Given the description of an element on the screen output the (x, y) to click on. 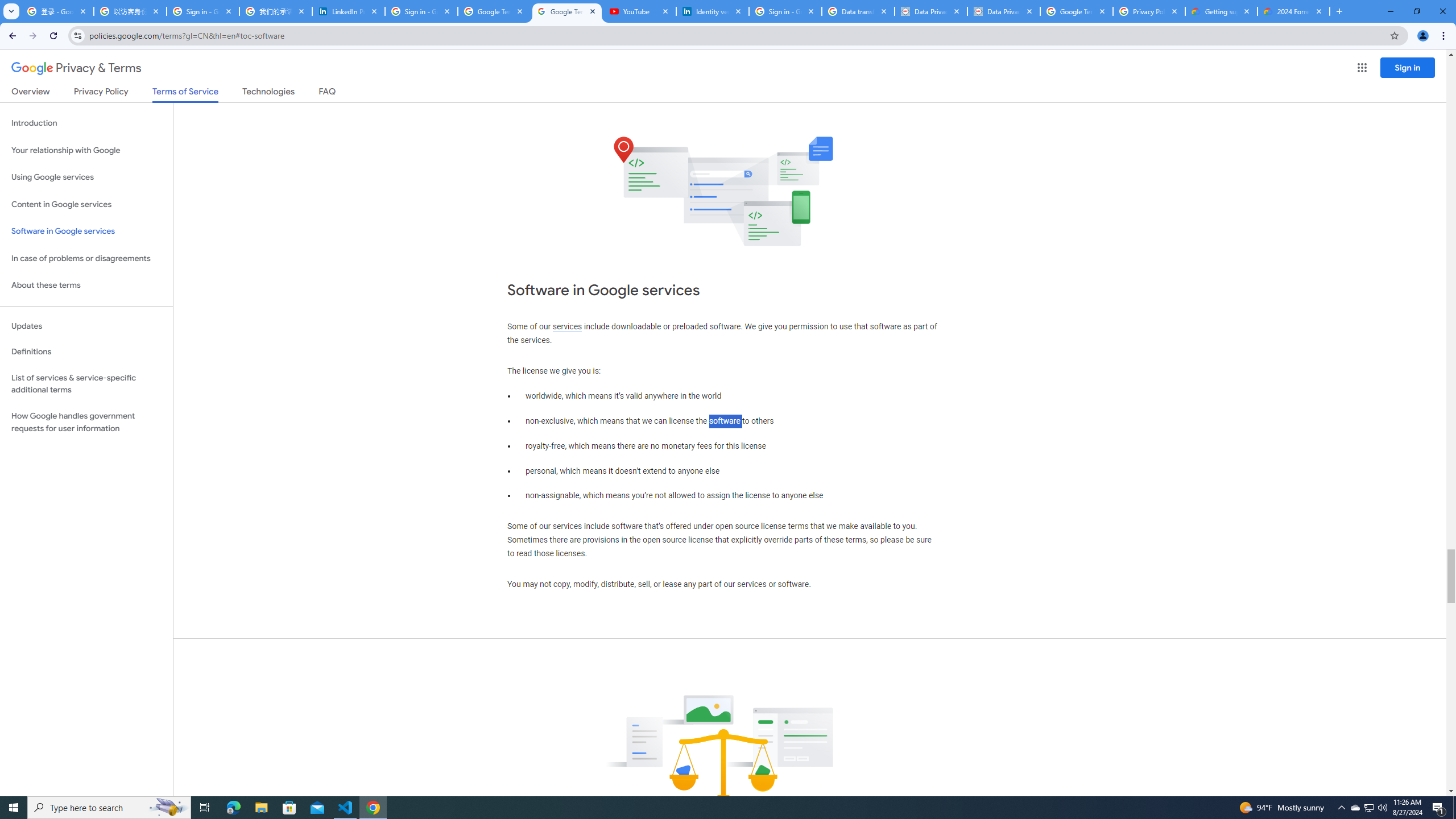
Sign in - Google Accounts (421, 11)
Technologies (268, 93)
Software in Google services (86, 230)
Sign in - Google Accounts (785, 11)
Privacy & Terms (76, 68)
Sign in (1407, 67)
Introduction (86, 122)
